Given the description of an element on the screen output the (x, y) to click on. 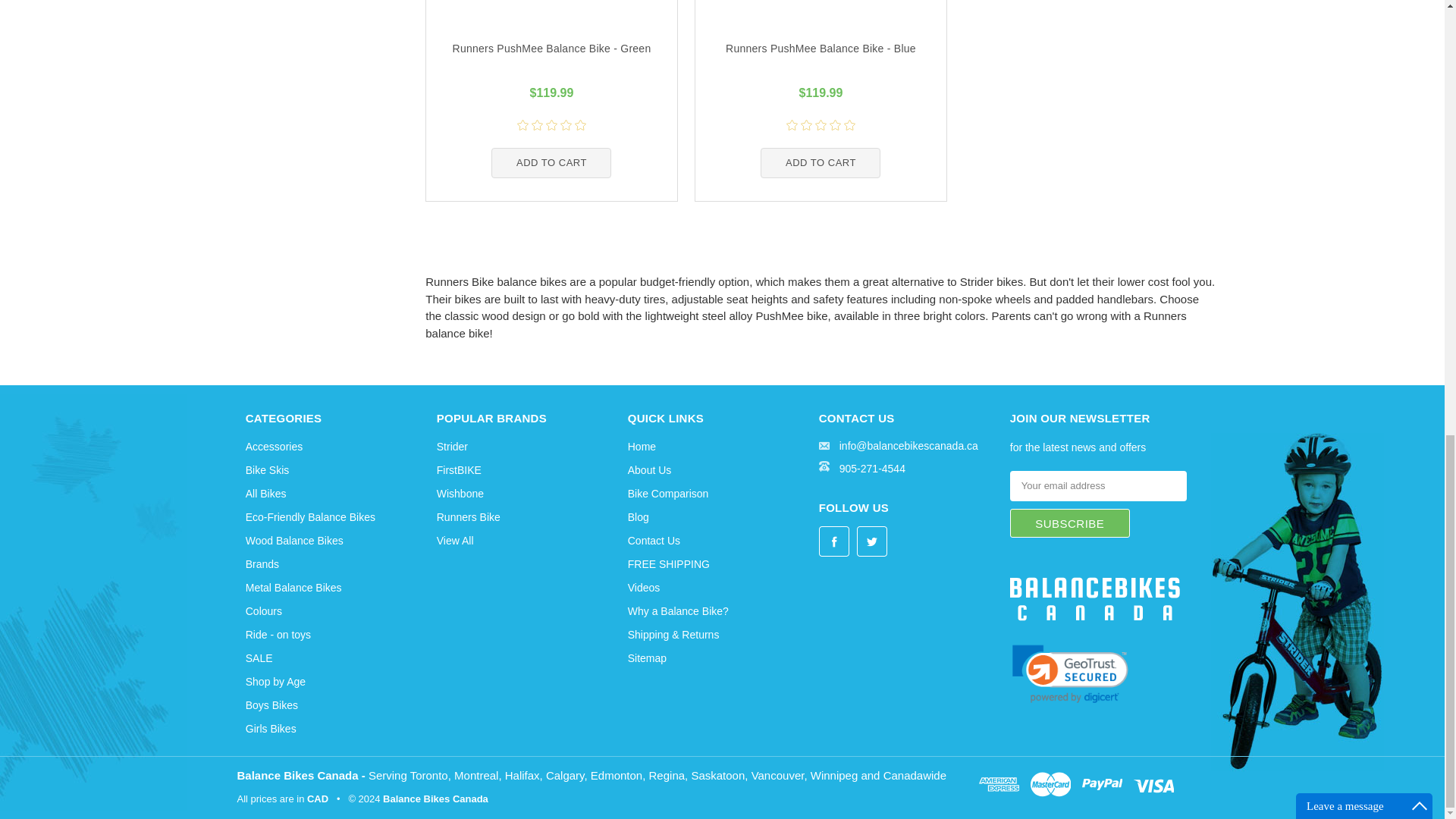
Subscribe (1069, 522)
